Given the description of an element on the screen output the (x, y) to click on. 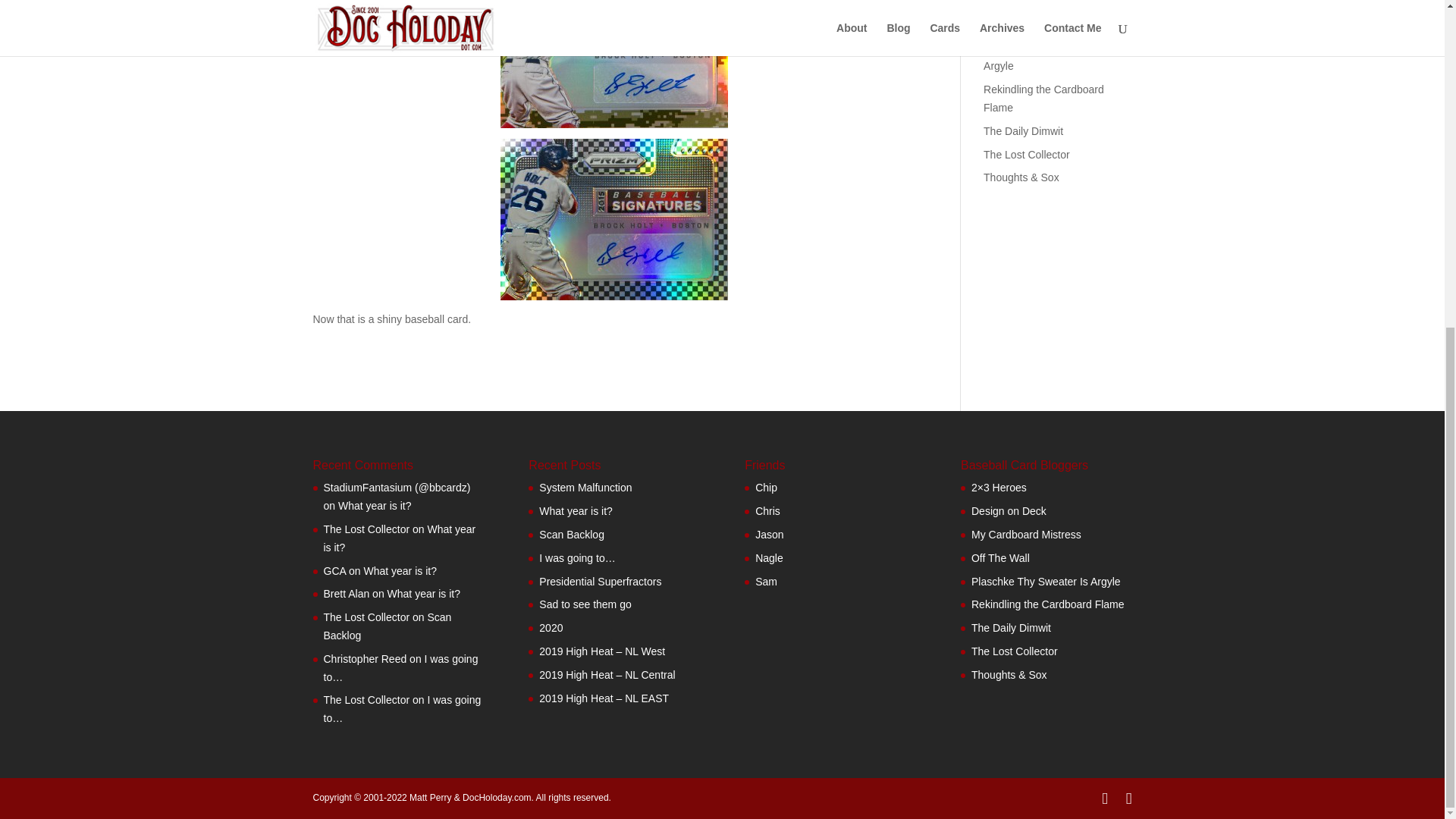
What year is it? (399, 538)
Off The Wall (1013, 24)
Plaschke Thy Sweater Is Argyle (1042, 57)
What year is it? (398, 571)
Scan Backlog (387, 625)
GCA (334, 571)
What year is it? (373, 505)
The Lost Collector (1027, 154)
The Daily Dimwit (766, 581)
The Daily Dimwit (1023, 131)
What year is it? (423, 593)
My Cardboard Mistress (1038, 3)
Rekindling the Cardboard Flame (1043, 98)
Christopher Reed (364, 658)
